Given the description of an element on the screen output the (x, y) to click on. 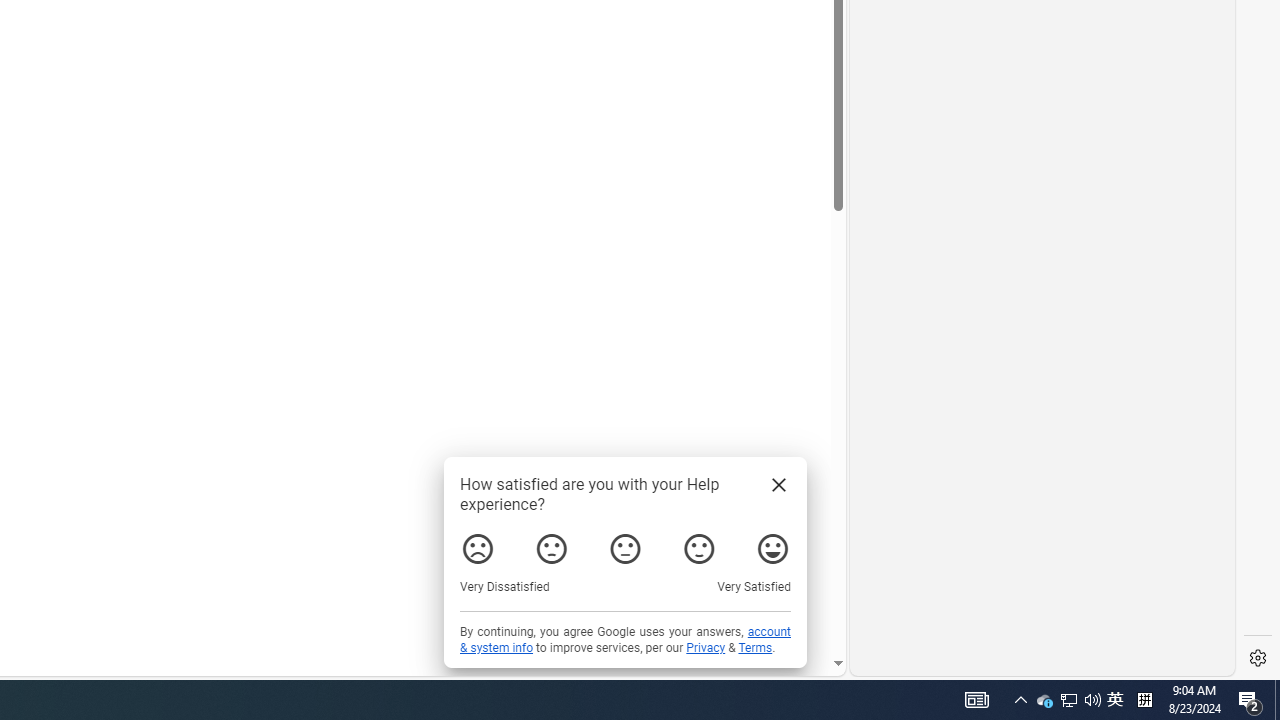
Close user survey dialog (778, 484)
Smiley 4 of 5. Somewhat satisfied (699, 548)
Smiley 2 of 5. Somewhat dissatisfied (551, 548)
Privacy, Opens in new tab (705, 647)
Terms, Opens in new tab (755, 647)
Close user survey dialog (778, 484)
account & system info (625, 639)
Smiley 1 of 5. Very dissatisfied Very Dissatisfied (477, 548)
Smiley 3 of 5. Neither satisfied nor dissatisfied (625, 548)
Smiley 5 of 5. Very satisfied Very Satisfied (772, 548)
